Given the description of an element on the screen output the (x, y) to click on. 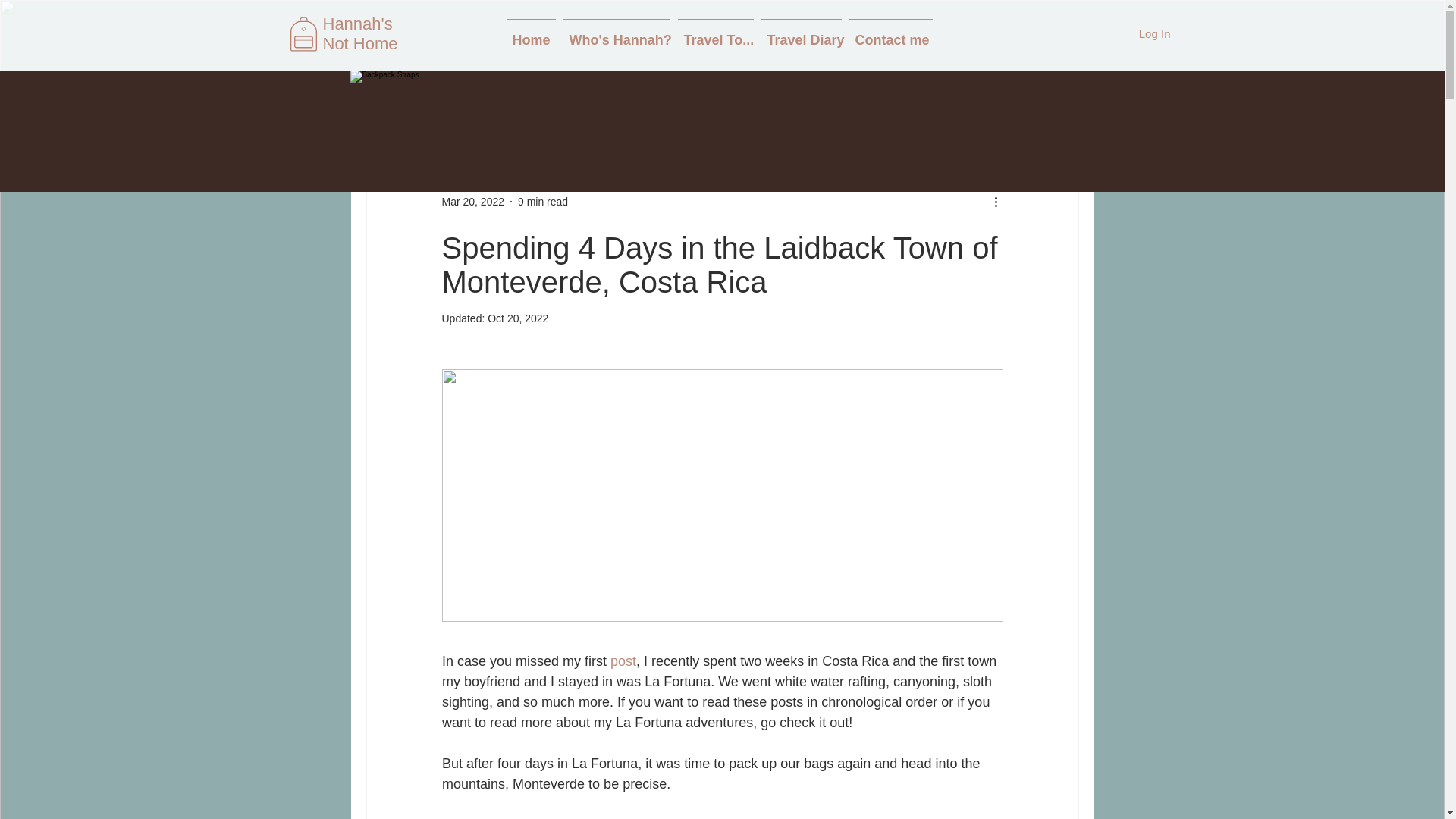
9 min read (542, 201)
Trip Planning (802, 101)
23 Days Alone in Japan (581, 101)
Mar 20, 2022 (472, 201)
Log In (1154, 33)
Travel To... (714, 33)
Who's Hannah? (616, 33)
Oct 20, 2022 (517, 318)
post (623, 661)
Travel Tips (465, 101)
All Posts (387, 101)
Travel Diary (800, 33)
Contact me (890, 33)
Japan Focused (901, 101)
Trip Budgeting (705, 101)
